Given the description of an element on the screen output the (x, y) to click on. 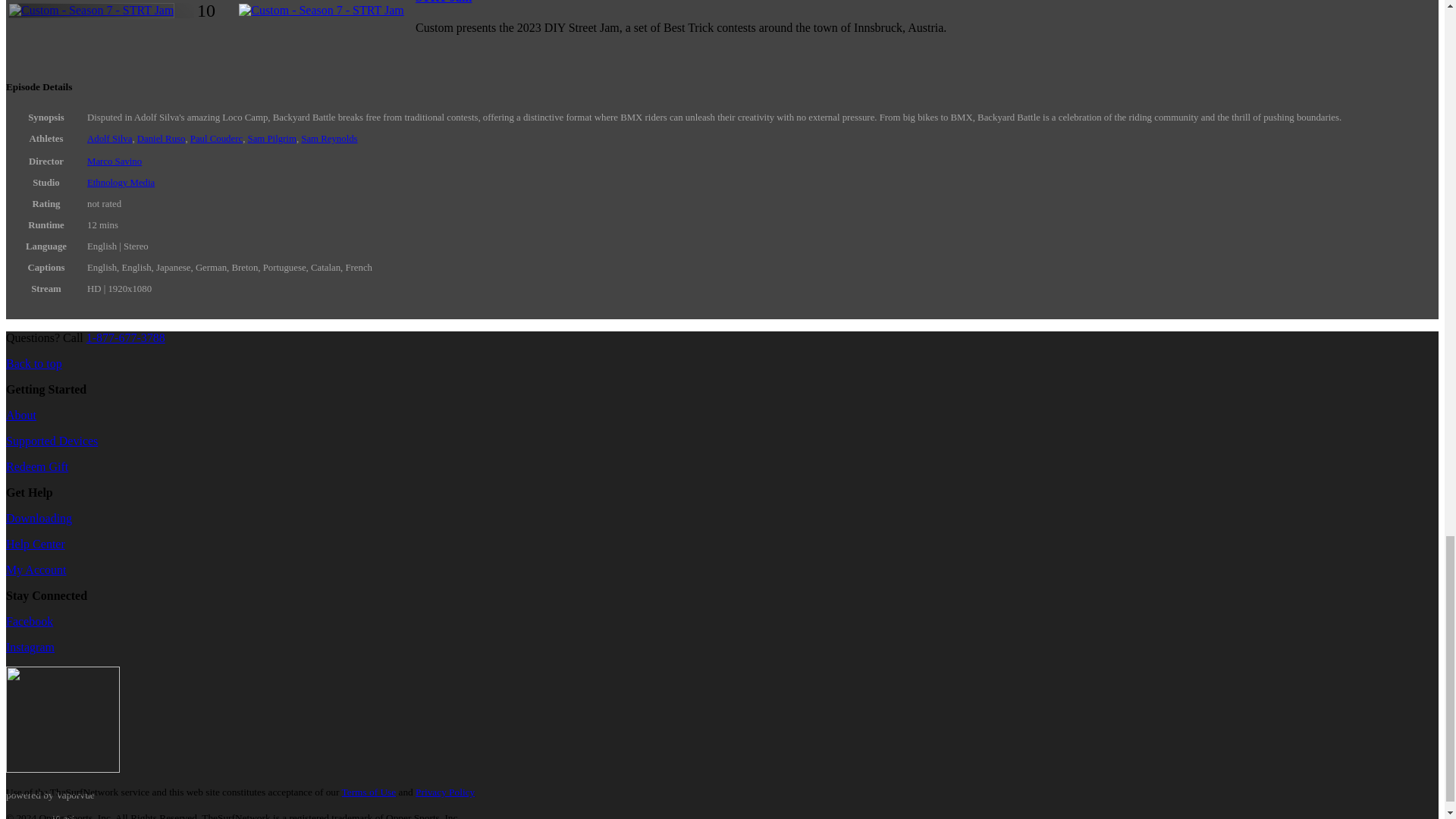
STRT Jam (442, 2)
